Given the description of an element on the screen output the (x, y) to click on. 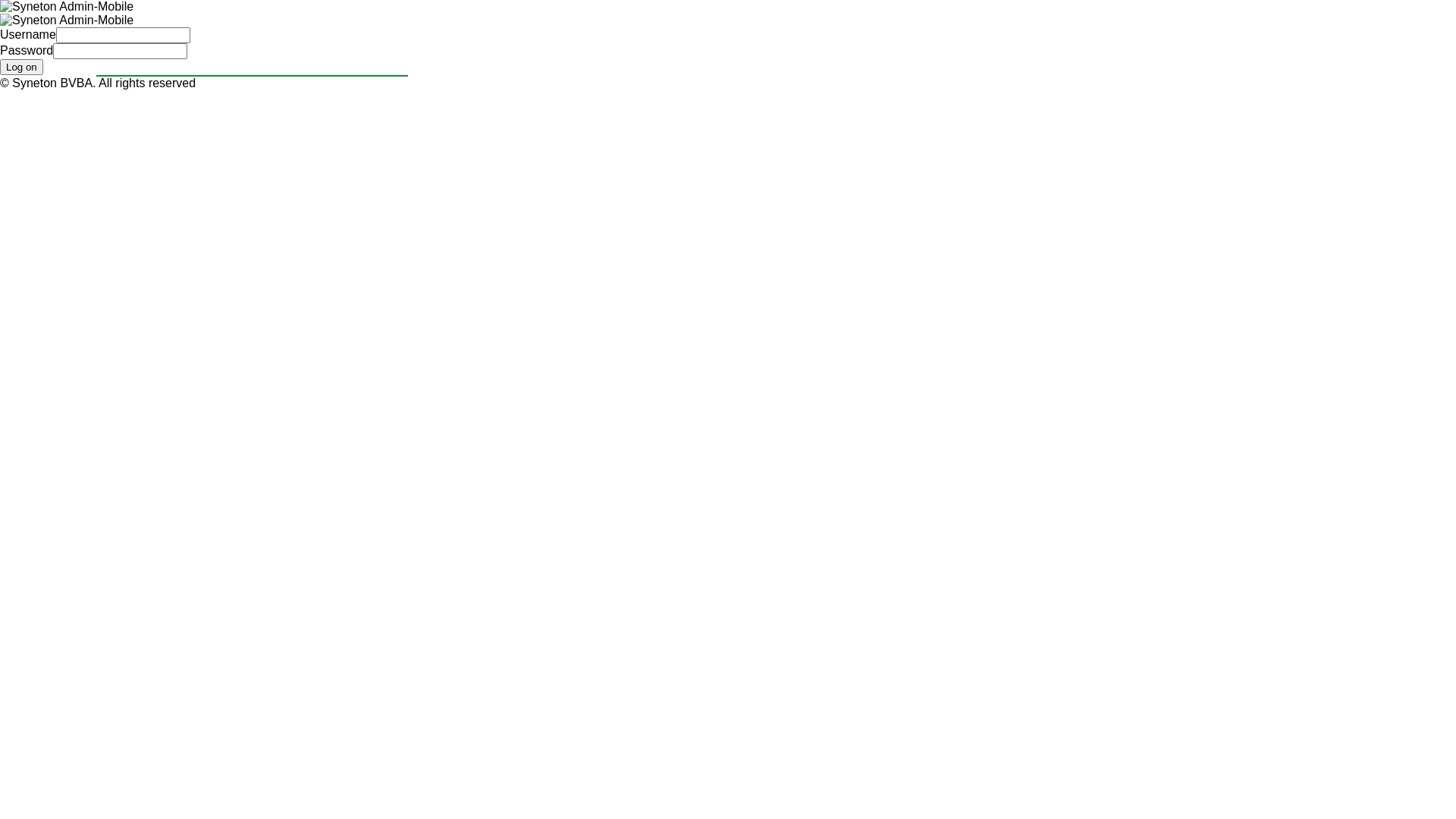
Syneton Admin-Mobile Element type: hover (66, 20)
Syneton Admin-Mobile Element type: hover (66, 6)
Log on Element type: text (21, 67)
